Given the description of an element on the screen output the (x, y) to click on. 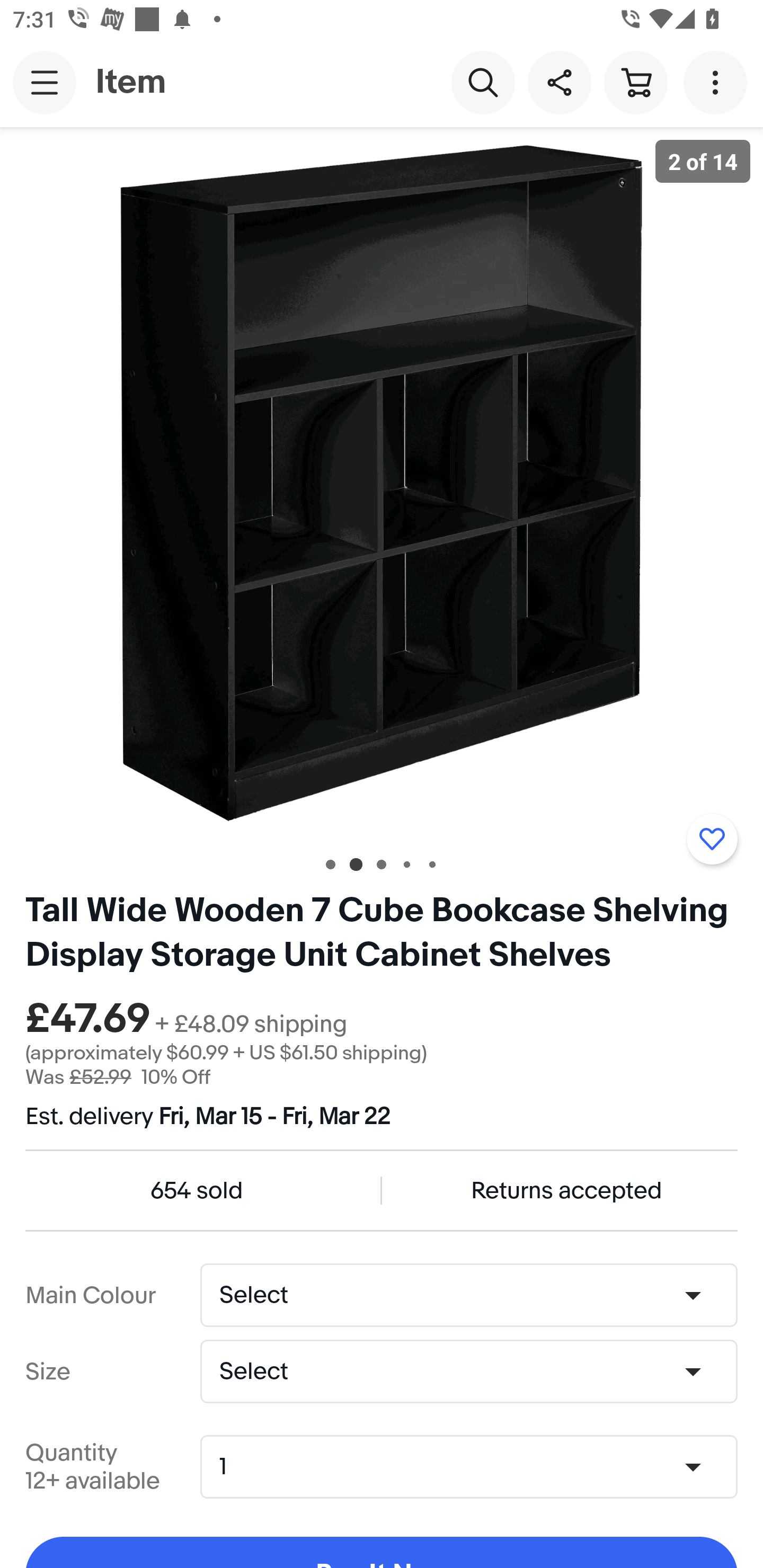
Main navigation, open (44, 82)
Search (482, 81)
Share this item (559, 81)
Cart button shopping cart (635, 81)
More options (718, 81)
Item image 2 of 14 (381, 482)
Add to watchlist (711, 838)
Main Colour,No selection Select (468, 1294)
Size,No selection Select (468, 1370)
Quantity,1,12+ available 1 (474, 1466)
